Given the description of an element on the screen output the (x, y) to click on. 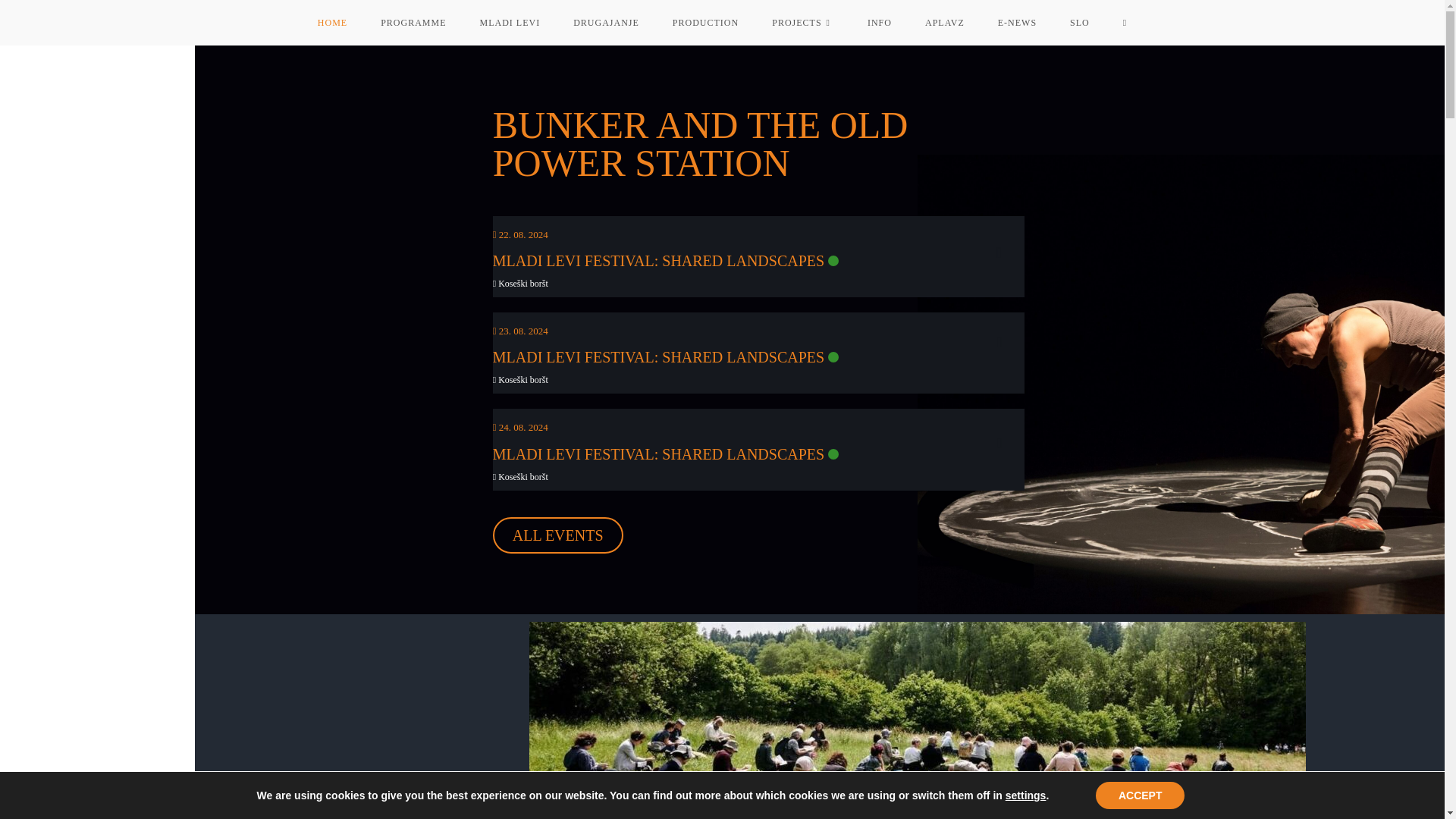
MLADI LEVI FESTIVAL: SHARED LANDSCAPES (658, 260)
ALL EVENTS (558, 534)
MLADI LEVI (510, 22)
MLADI LEVI FESTIVAL: SHARED LANDSCAPES (658, 356)
E-NEWS (1016, 22)
PRODUCTION (705, 22)
PROGRAMME (413, 22)
PROJECTS (802, 22)
INFO (879, 22)
DRUGAJANJE (606, 22)
SLO (1079, 22)
HOME (332, 22)
MLADI LEVI FESTIVAL: SHARED LANDSCAPES (658, 453)
APLAVZ (944, 22)
